Given the description of an element on the screen output the (x, y) to click on. 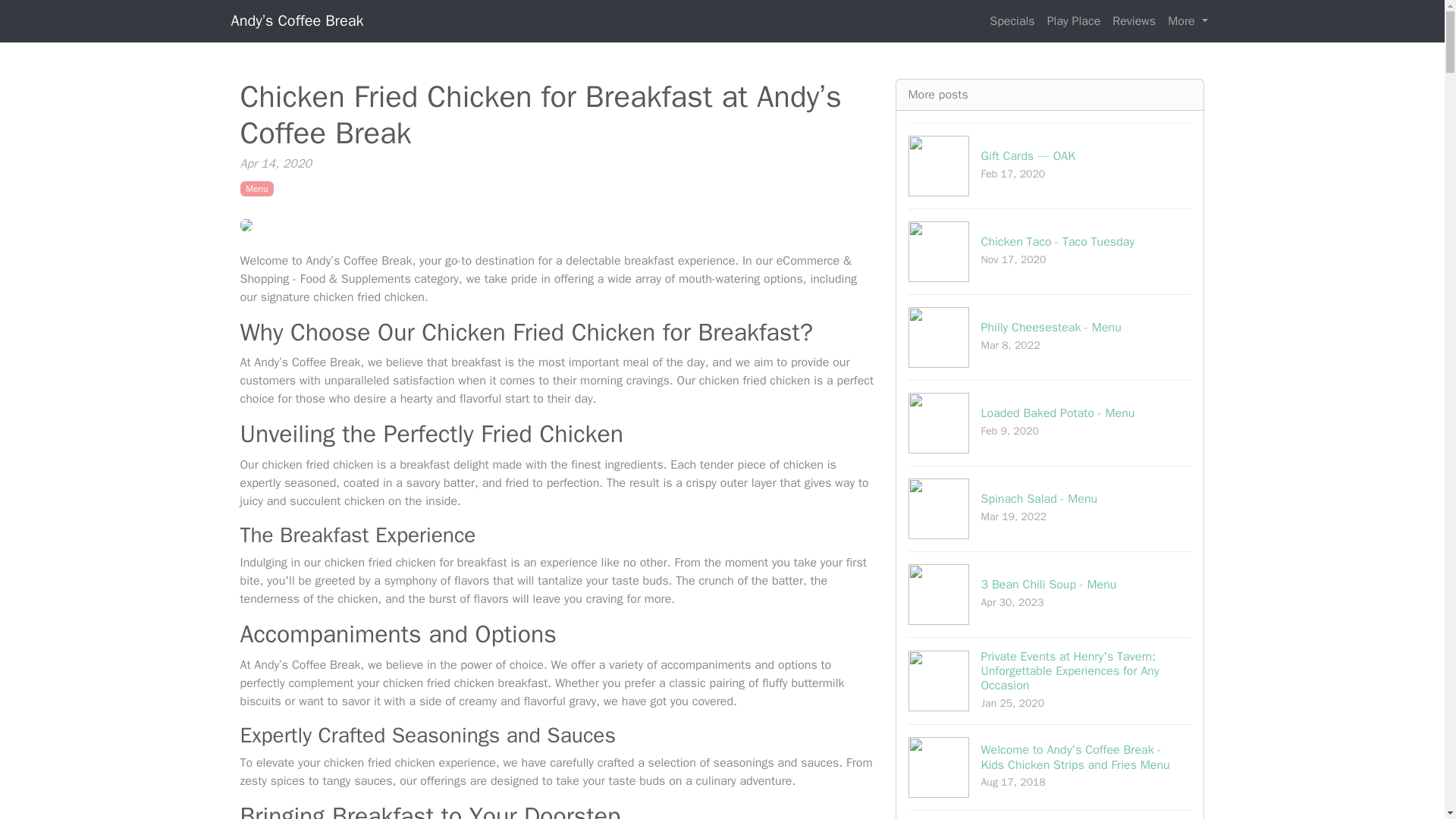
Menu (1050, 337)
More (256, 188)
Reviews (1050, 594)
